Given the description of an element on the screen output the (x, y) to click on. 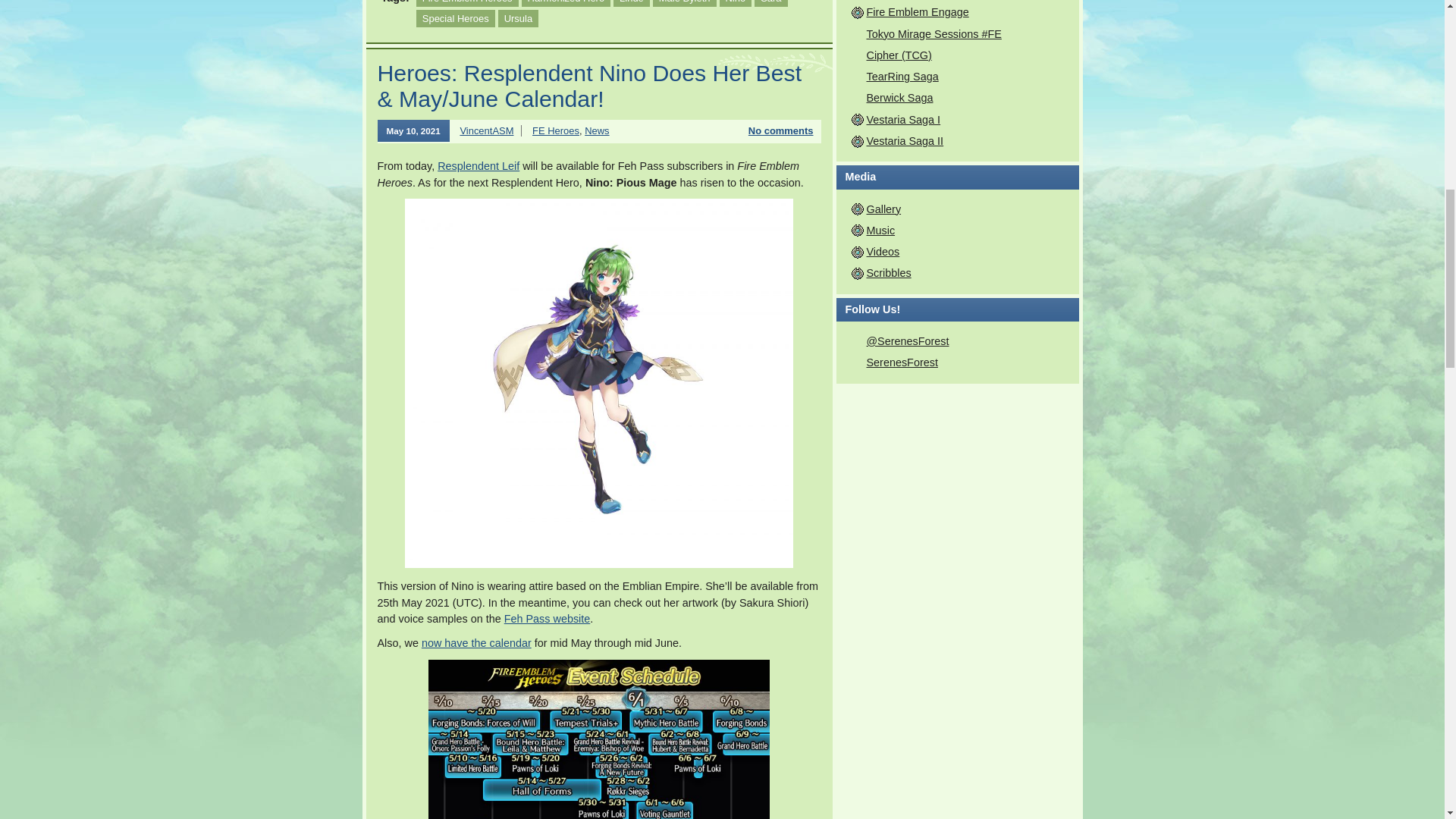
Posts by VincentASM (486, 130)
Vestaria Saga I: War of the Scions (903, 119)
